Given the description of an element on the screen output the (x, y) to click on. 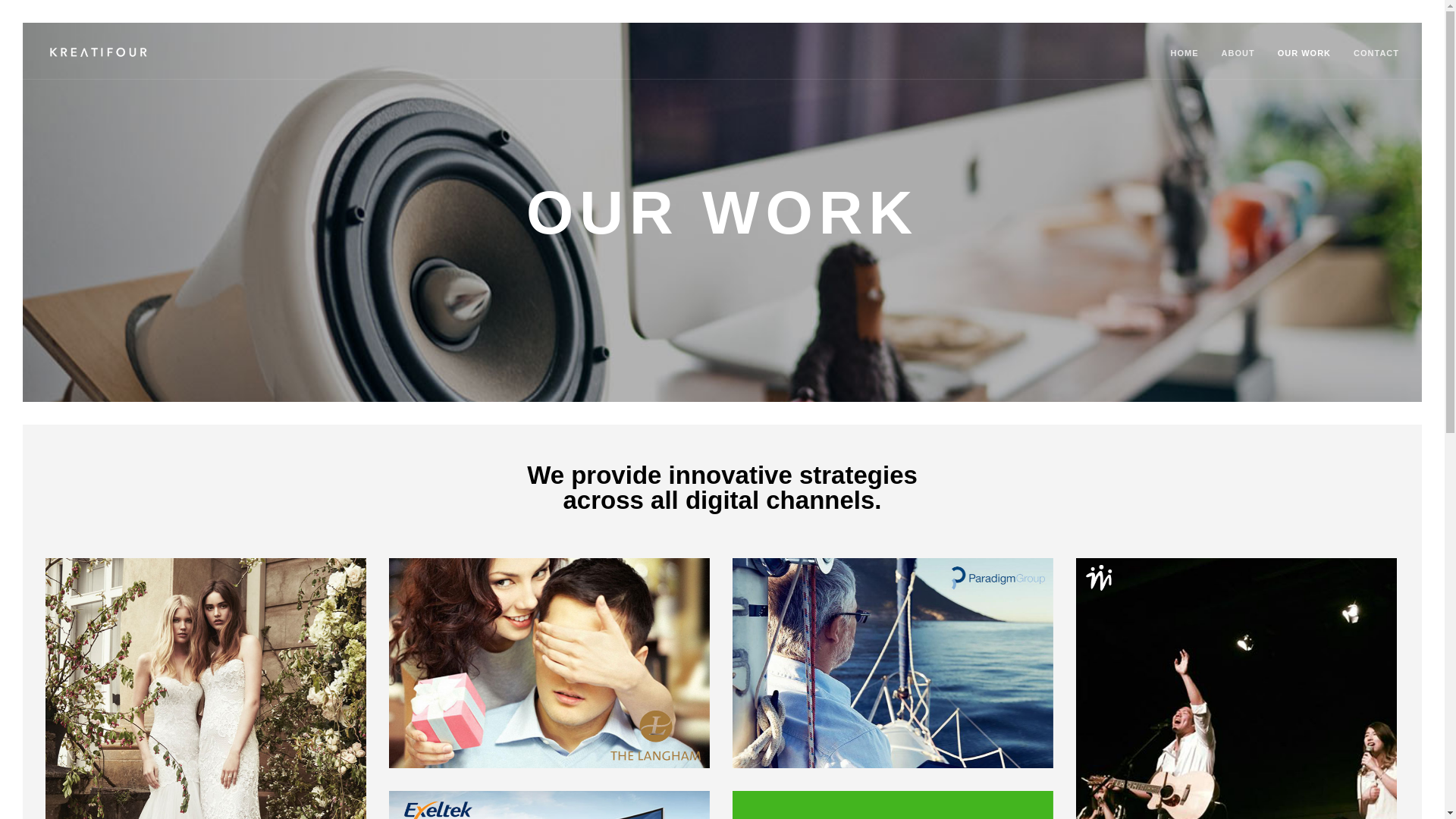
ABOUT Element type: text (1238, 61)
HOME Element type: text (1184, 61)
CONTACT Element type: text (1376, 61)
OUR WORK Element type: text (1303, 61)
